Given the description of an element on the screen output the (x, y) to click on. 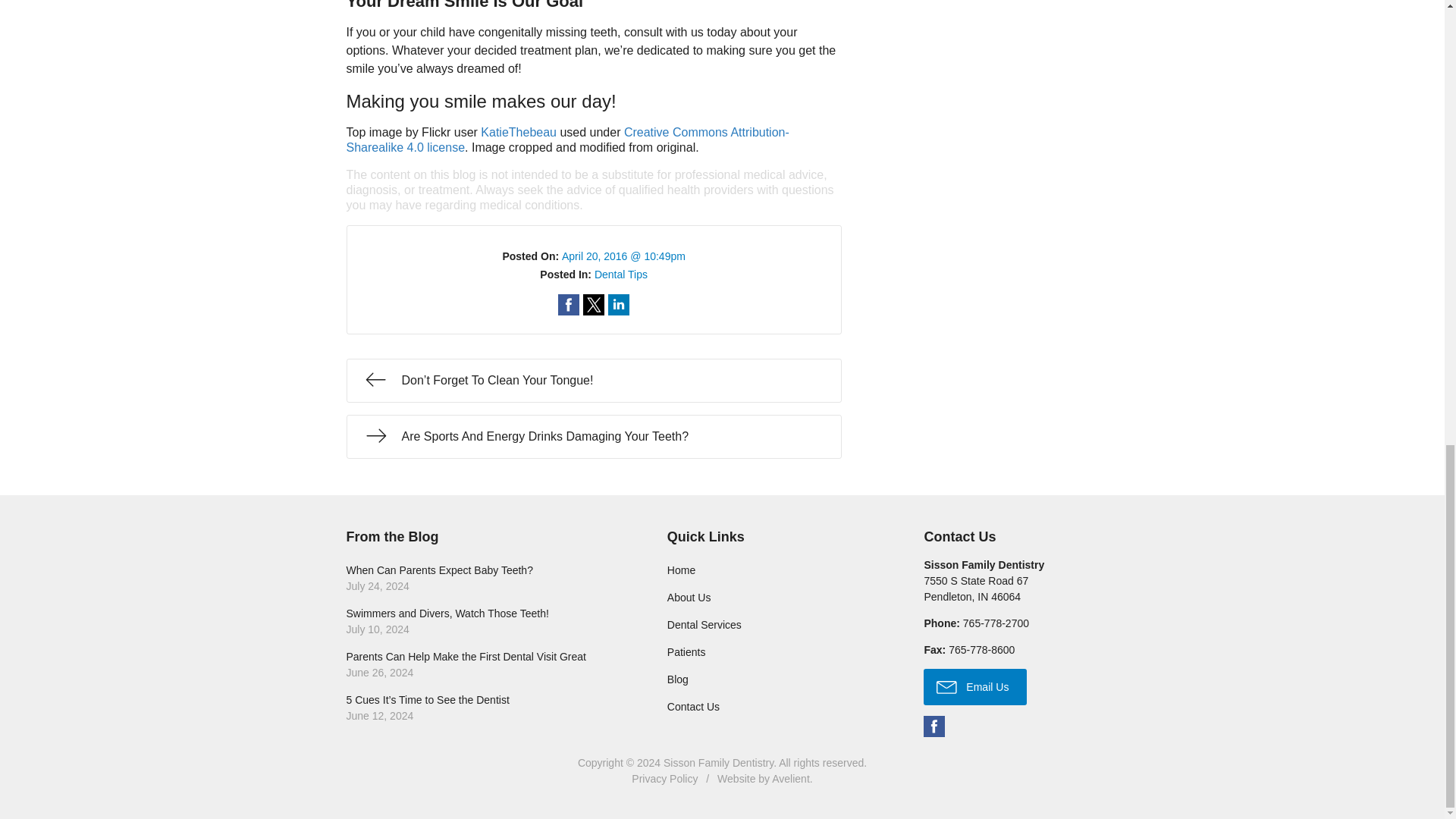
Dental Tips (485, 578)
KatieThebeau (620, 274)
Share on Twitter (518, 132)
Share on Facebook (593, 304)
Home (568, 304)
Go to our Facebook Page (775, 570)
Share on Facebook (933, 726)
Creative Commons Attribution-Sharealike 4.0 license (568, 304)
Share on LinkedIn (567, 139)
About Us (618, 304)
Open this address in Google Maps (775, 597)
Share on LinkedIn (975, 588)
Share on Twitter (618, 304)
